Given the description of an element on the screen output the (x, y) to click on. 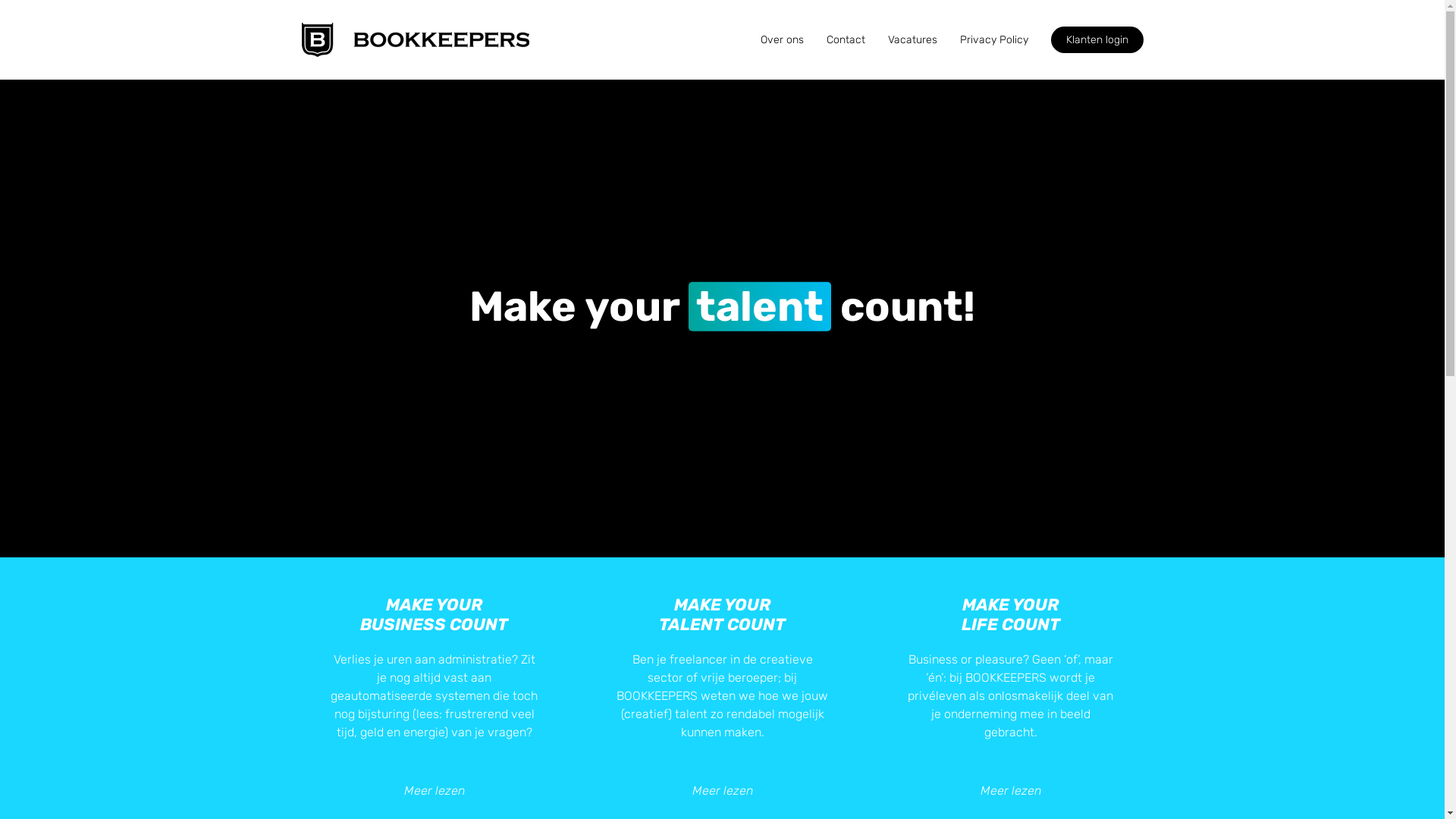
Vacatures Element type: text (911, 39)
Over ons Element type: text (781, 39)
Klanten login Element type: text (1097, 39)
Privacy Policy Element type: text (994, 39)
Contact Element type: text (845, 39)
BOOKKEEPERS Element type: text (434, 39)
